Given the description of an element on the screen output the (x, y) to click on. 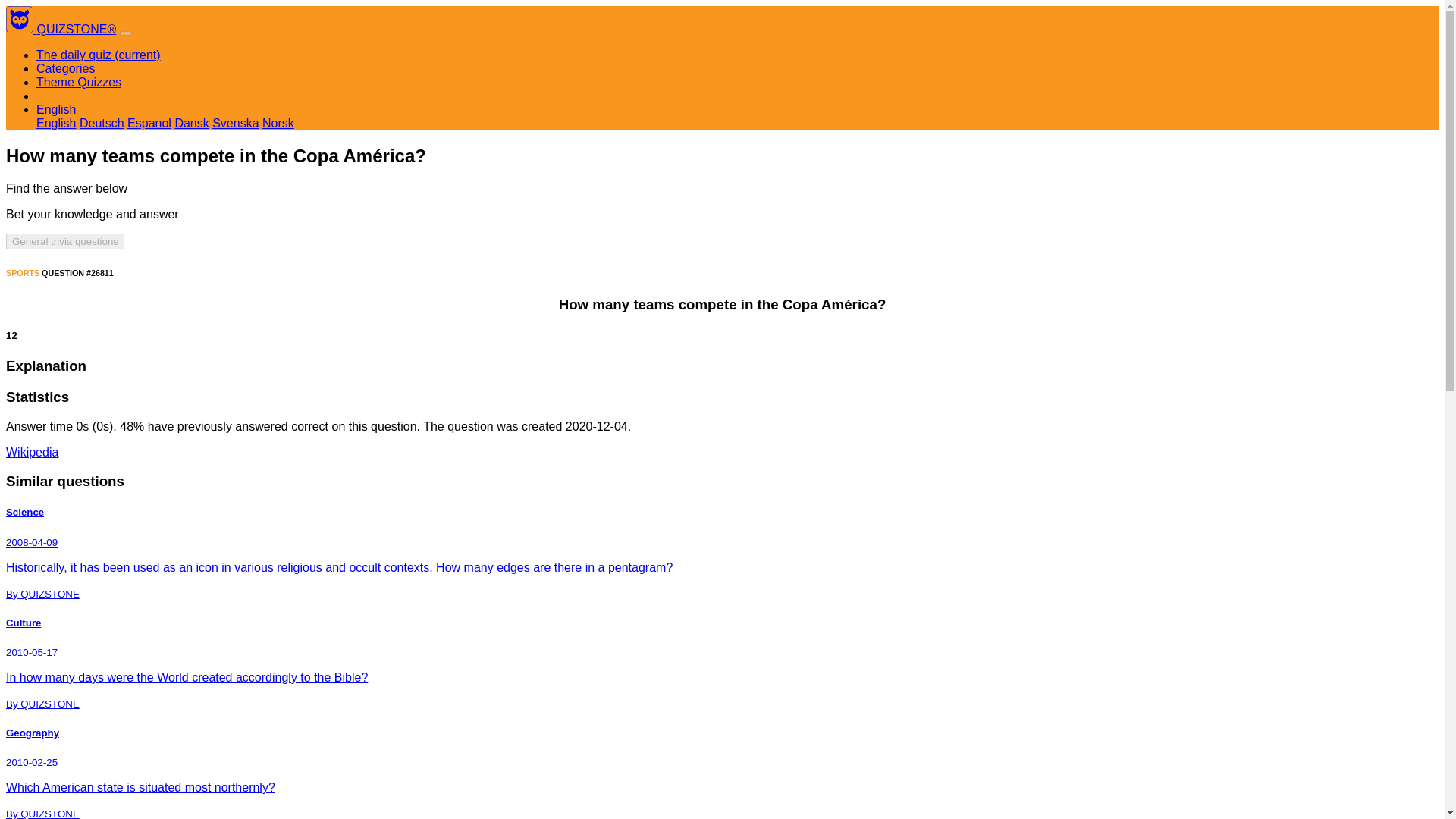
General trivia questions (64, 241)
Norsk (278, 123)
QUIZSTONE (20, 29)
Deutsch (101, 123)
Svenska (235, 123)
Categories (65, 68)
Dansk (191, 123)
QUIZSTONE (19, 19)
English (55, 123)
Theme Quizzes (78, 82)
English (55, 109)
Wikipedia (31, 451)
Espanol (149, 123)
